Given the description of an element on the screen output the (x, y) to click on. 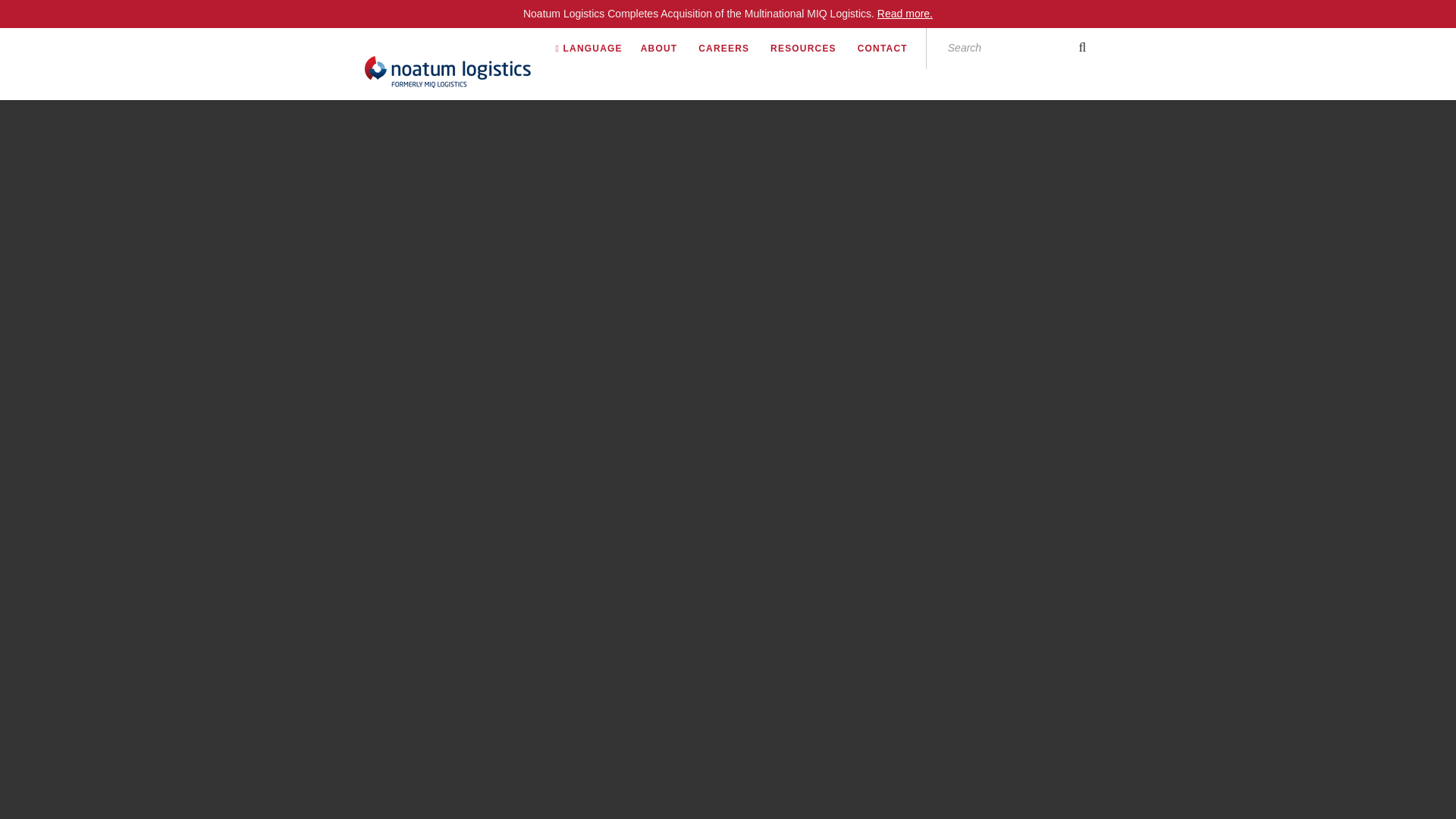
CONTACT (891, 47)
ABOUT (667, 47)
Read more. (905, 13)
RESOURCES (812, 47)
CAREERS (732, 47)
